Given the description of an element on the screen output the (x, y) to click on. 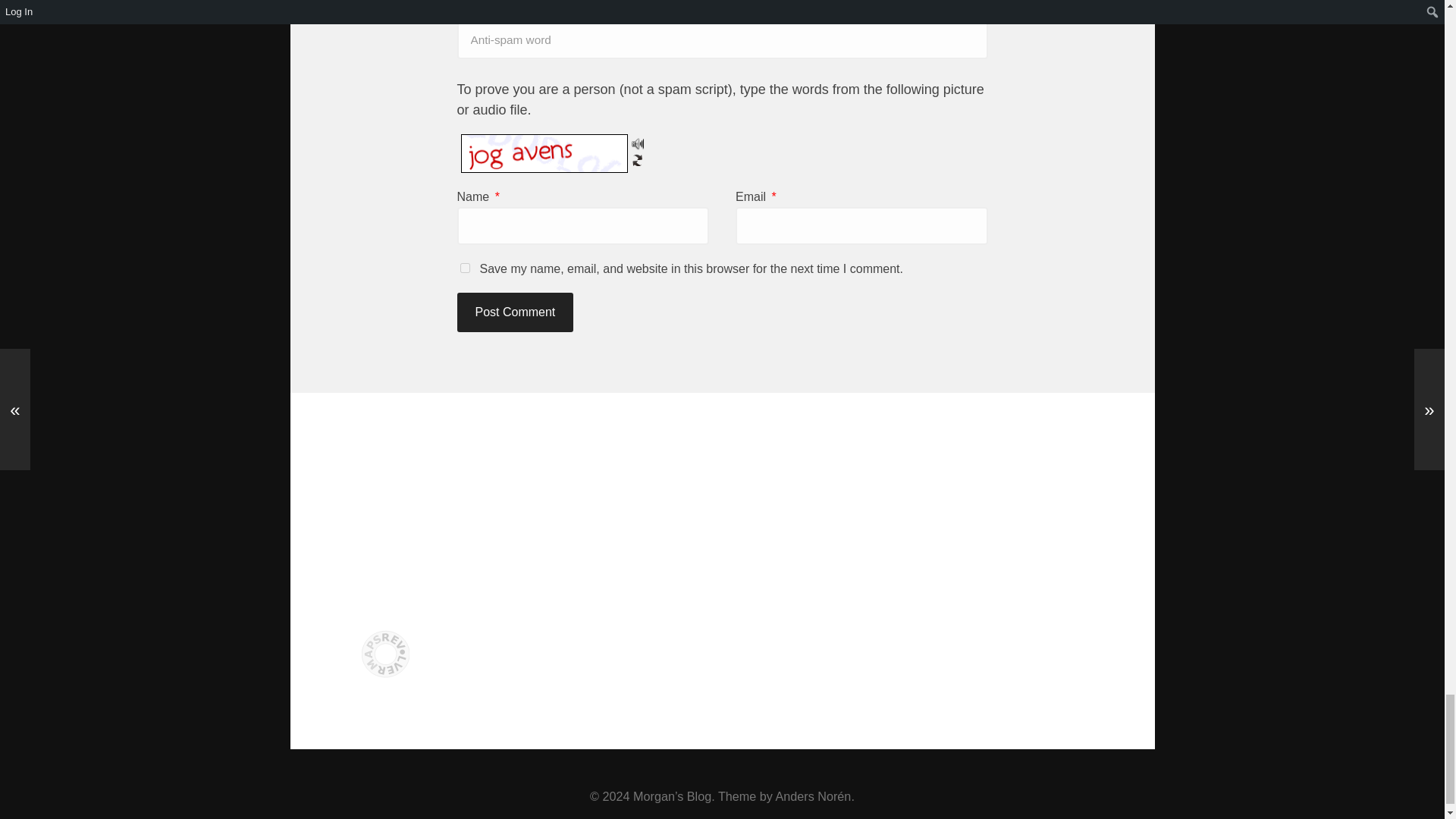
yes (464, 267)
Post Comment (515, 312)
Listen (636, 143)
Load new (636, 159)
Post Comment (515, 312)
